Given the description of an element on the screen output the (x, y) to click on. 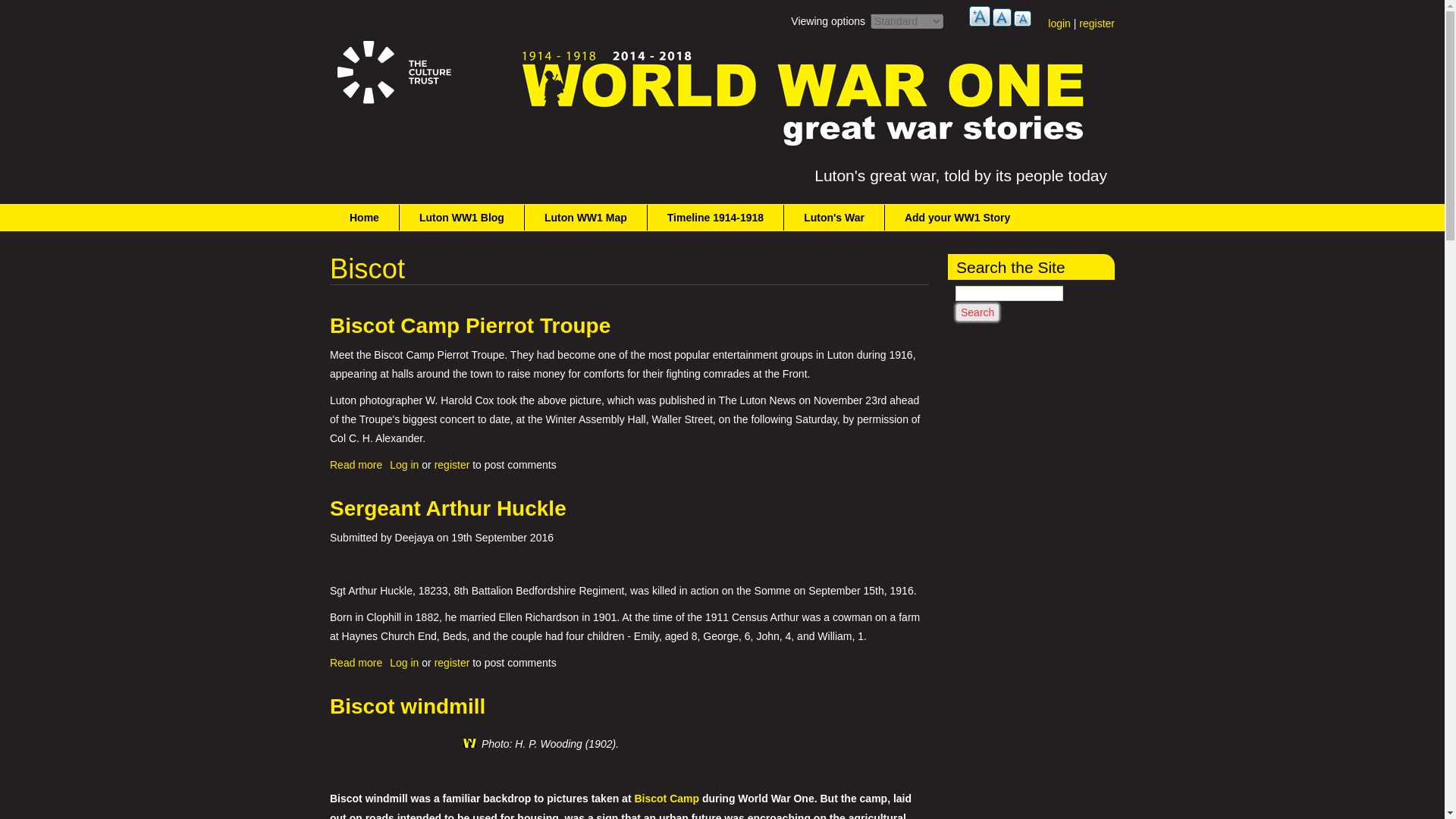
Sergeant Arthur Huckle (448, 508)
A visual timeline of events in Luton during WWI (715, 217)
Add your WW1 Story (957, 217)
register (451, 464)
Biscot windmill (407, 706)
Home (364, 217)
register (1096, 23)
register (355, 464)
A (451, 662)
